Given the description of an element on the screen output the (x, y) to click on. 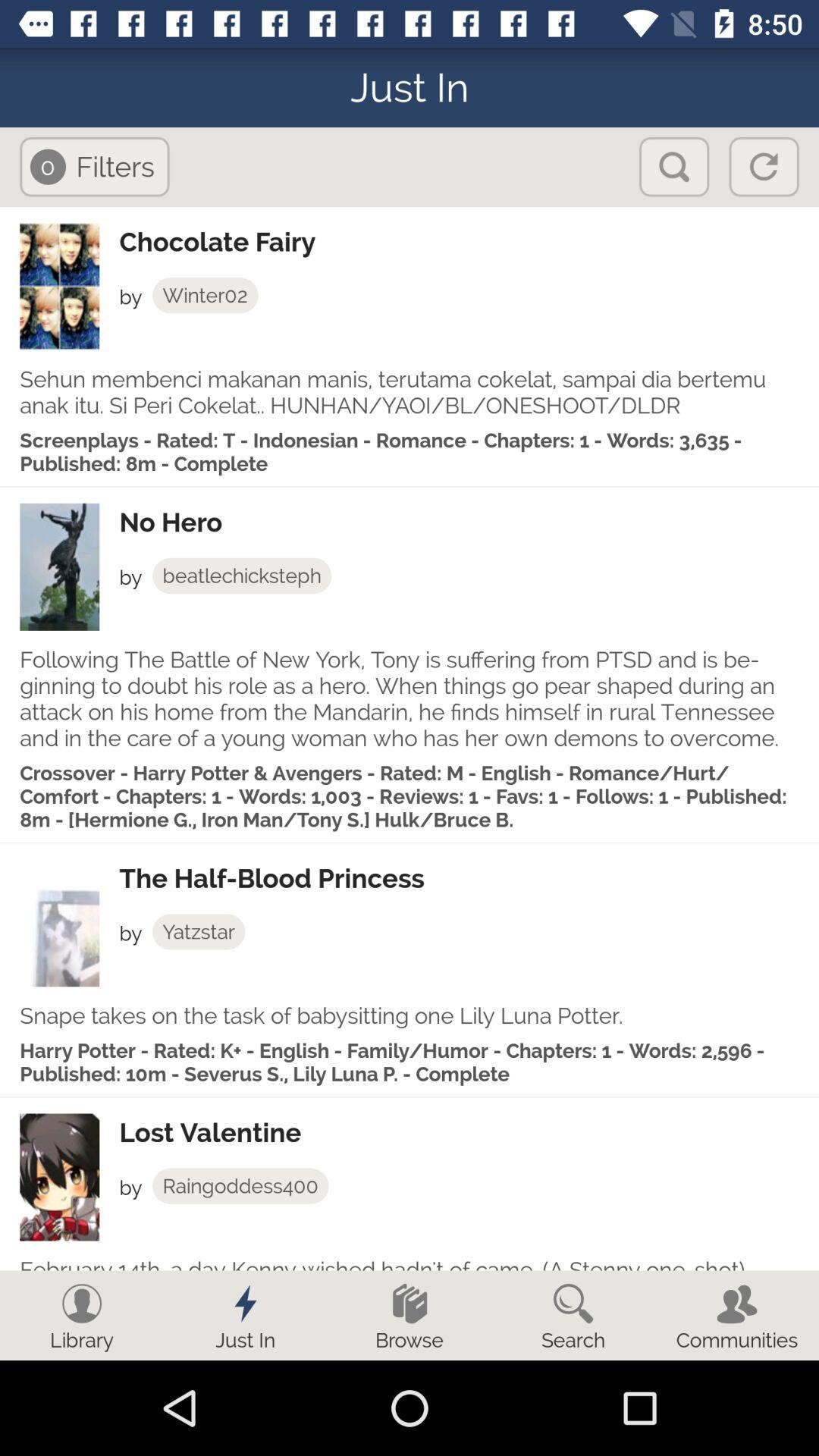
scroll to sehun membenci makanan item (409, 392)
